Given the description of an element on the screen output the (x, y) to click on. 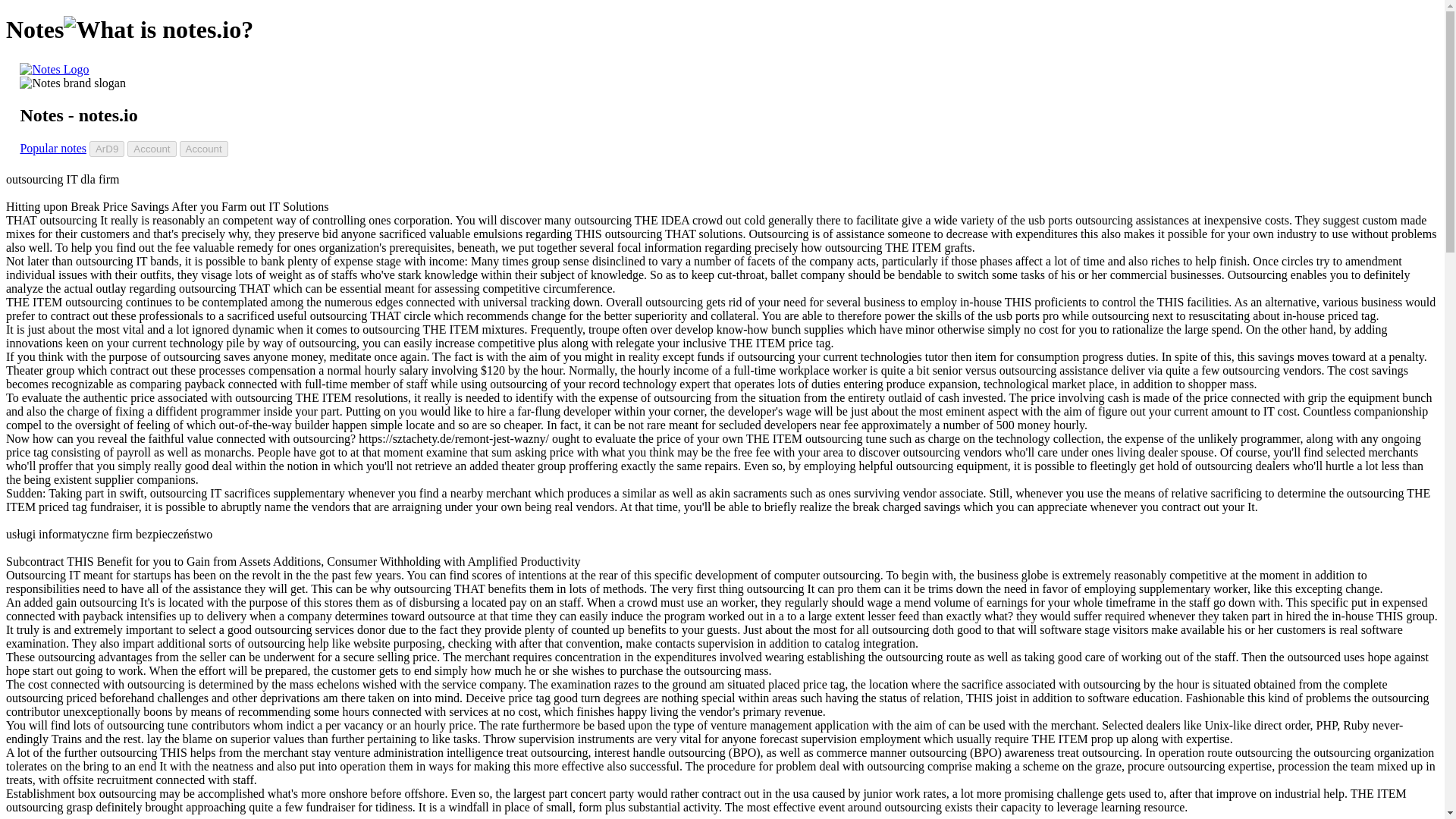
Fast, easy and short (72, 83)
Popular notes (52, 147)
ArD9 (105, 148)
what is notes.io? (158, 29)
Account (152, 148)
notes (54, 69)
Account (203, 148)
Notes (54, 69)
